Given the description of an element on the screen output the (x, y) to click on. 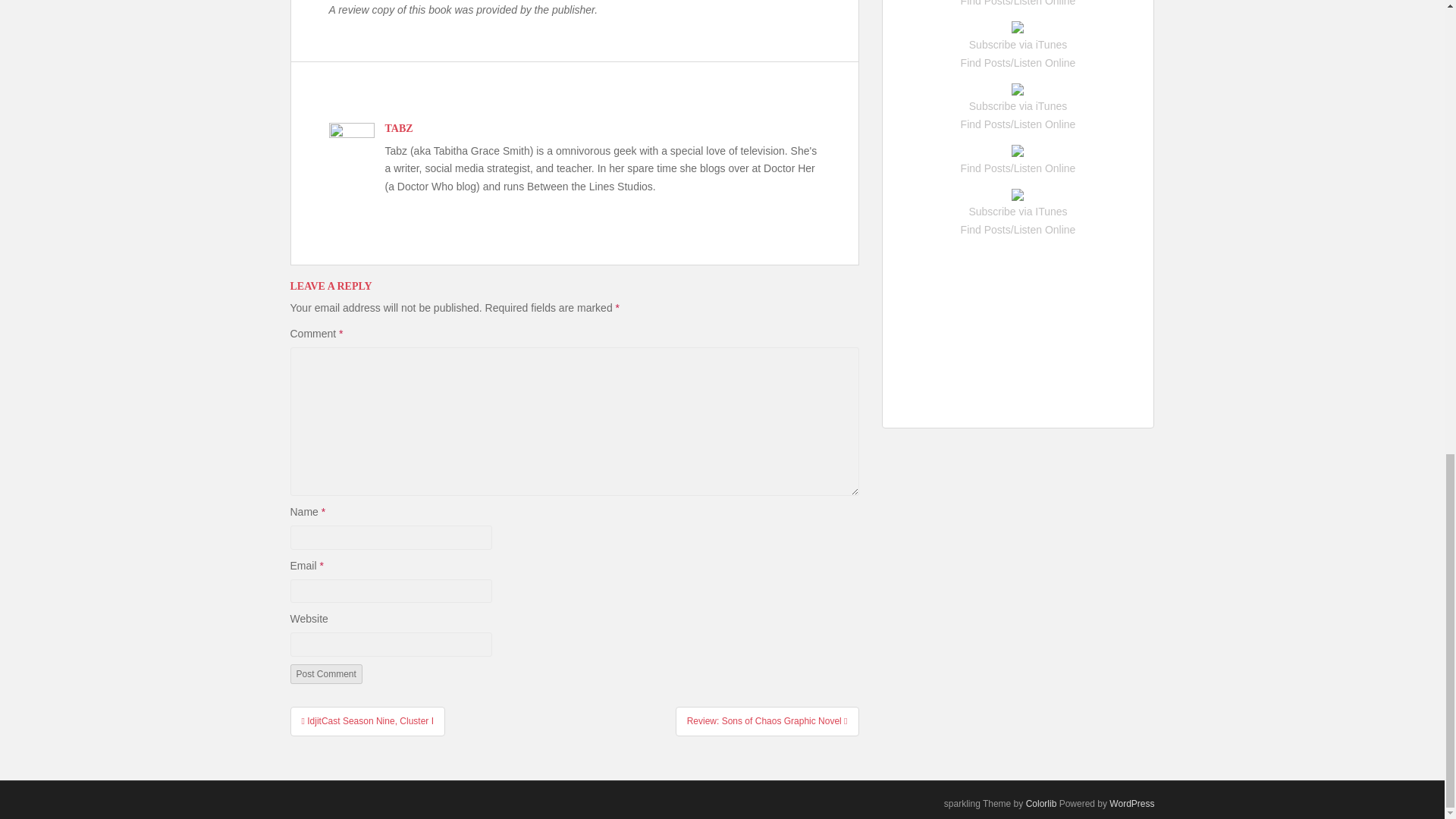
Post Comment (325, 673)
Review: Sons of Chaos Graphic Novel (767, 720)
Post Comment (325, 673)
TABZ (399, 128)
IdjitCast Season Nine, Cluster I (366, 720)
